Given the description of an element on the screen output the (x, y) to click on. 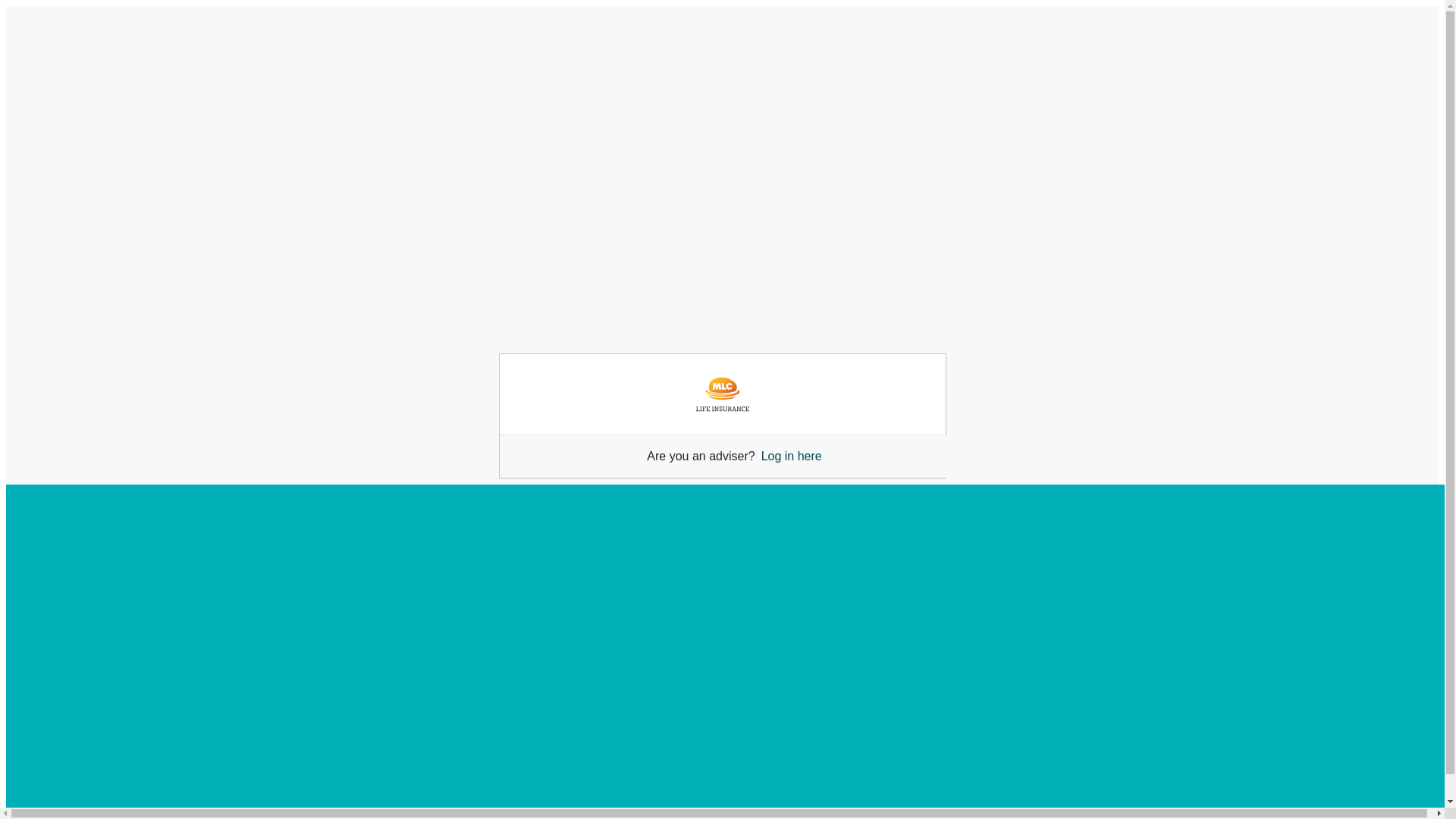
Log in here Element type: text (791, 456)
